Given the description of an element on the screen output the (x, y) to click on. 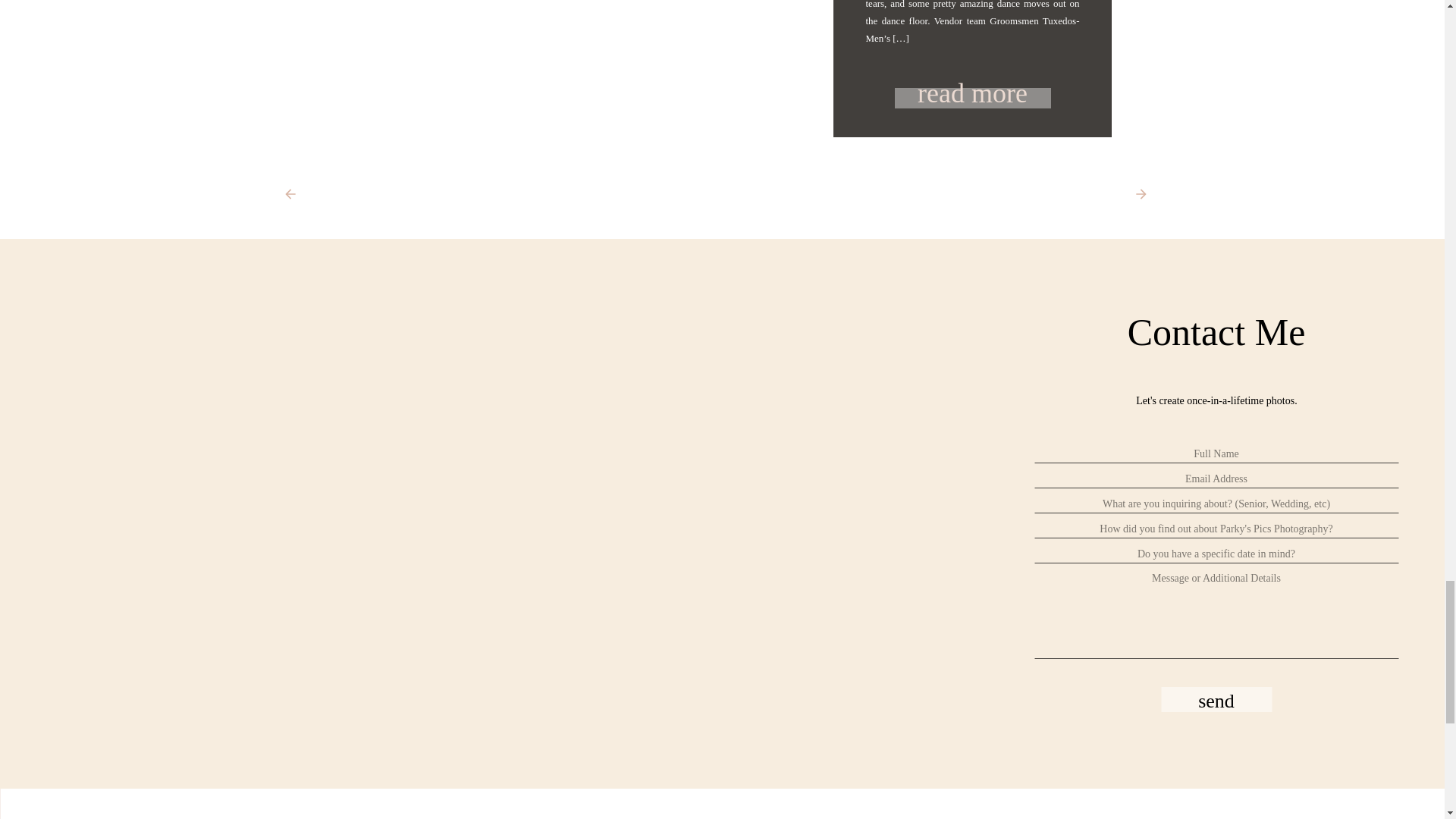
send (1216, 700)
read more (973, 91)
